Given the description of an element on the screen output the (x, y) to click on. 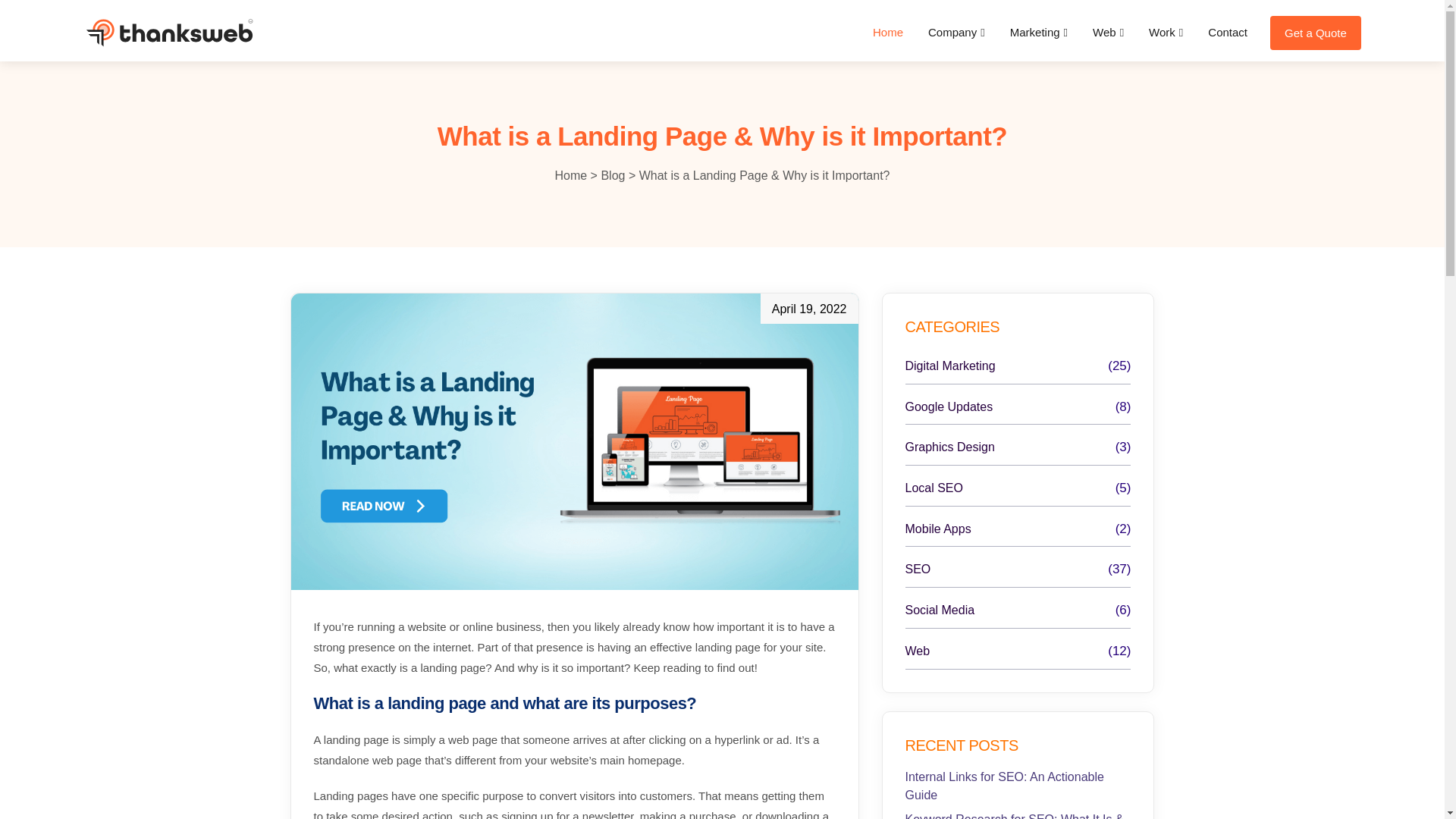
Thanksweb - Best SEO Company in Ahmedabad (168, 33)
Homepage (887, 32)
Contact (1227, 32)
Web (1107, 32)
Marketing (1038, 32)
Work (1166, 32)
Company (956, 32)
Marketing Services (1038, 32)
Get a Quote (1315, 32)
Blog (613, 174)
